Given the description of an element on the screen output the (x, y) to click on. 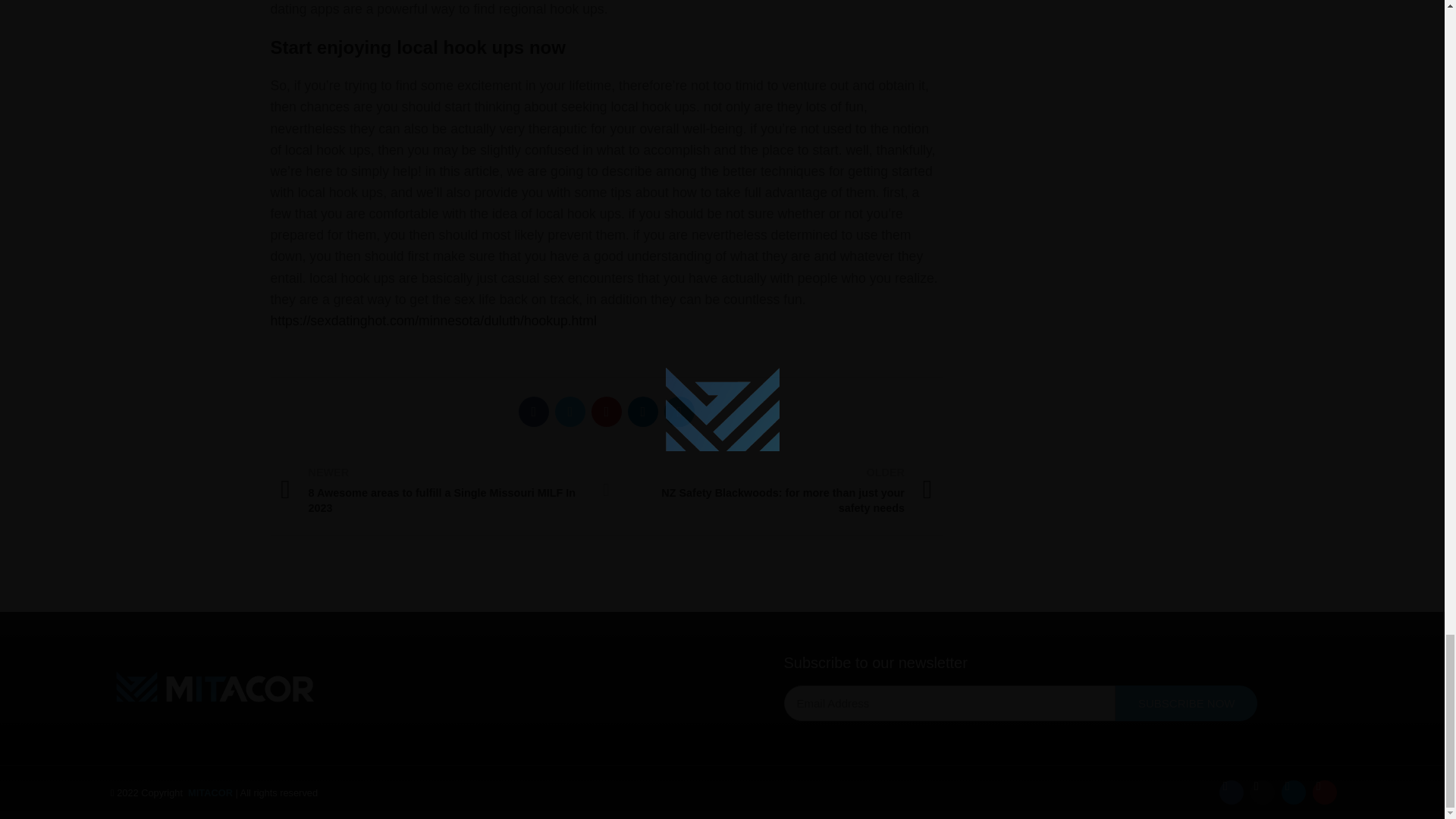
MITACOR (209, 792)
SUBSCRIBE NOW (1186, 703)
Back to list (606, 489)
